Given the description of an element on the screen output the (x, y) to click on. 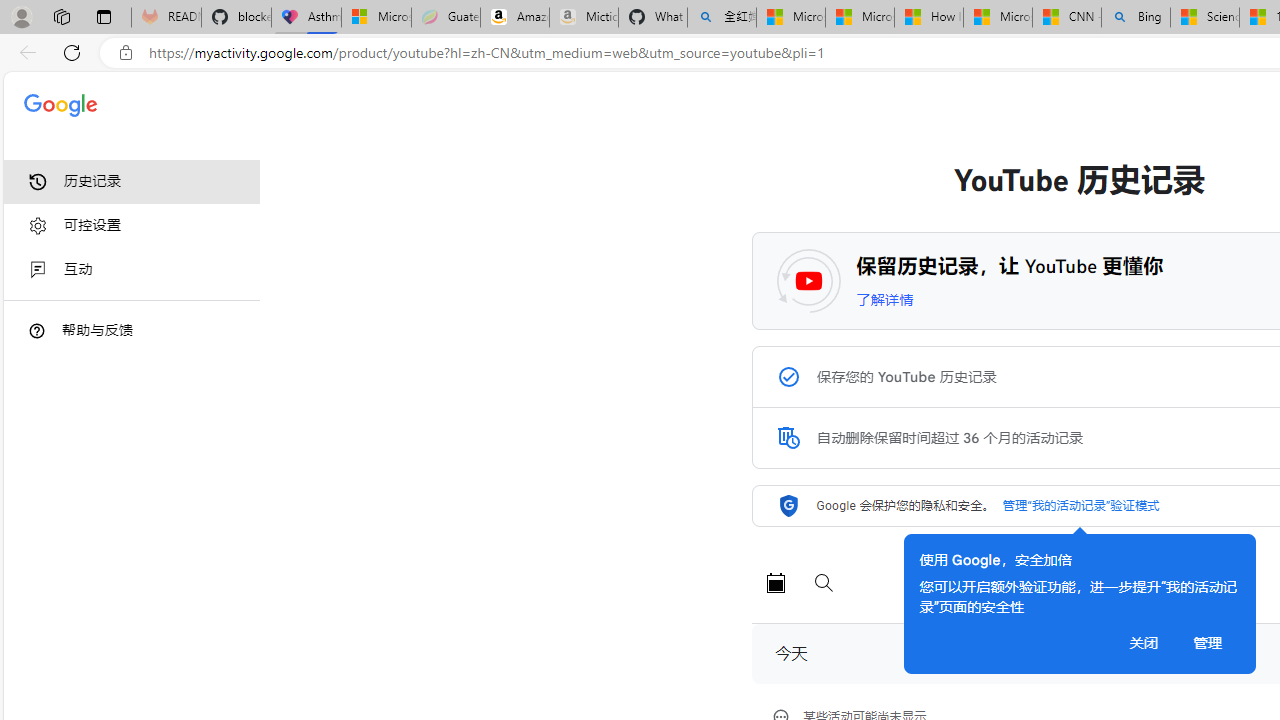
Class: k1qAtf NMm5M (788, 438)
